Given the description of an element on the screen output the (x, y) to click on. 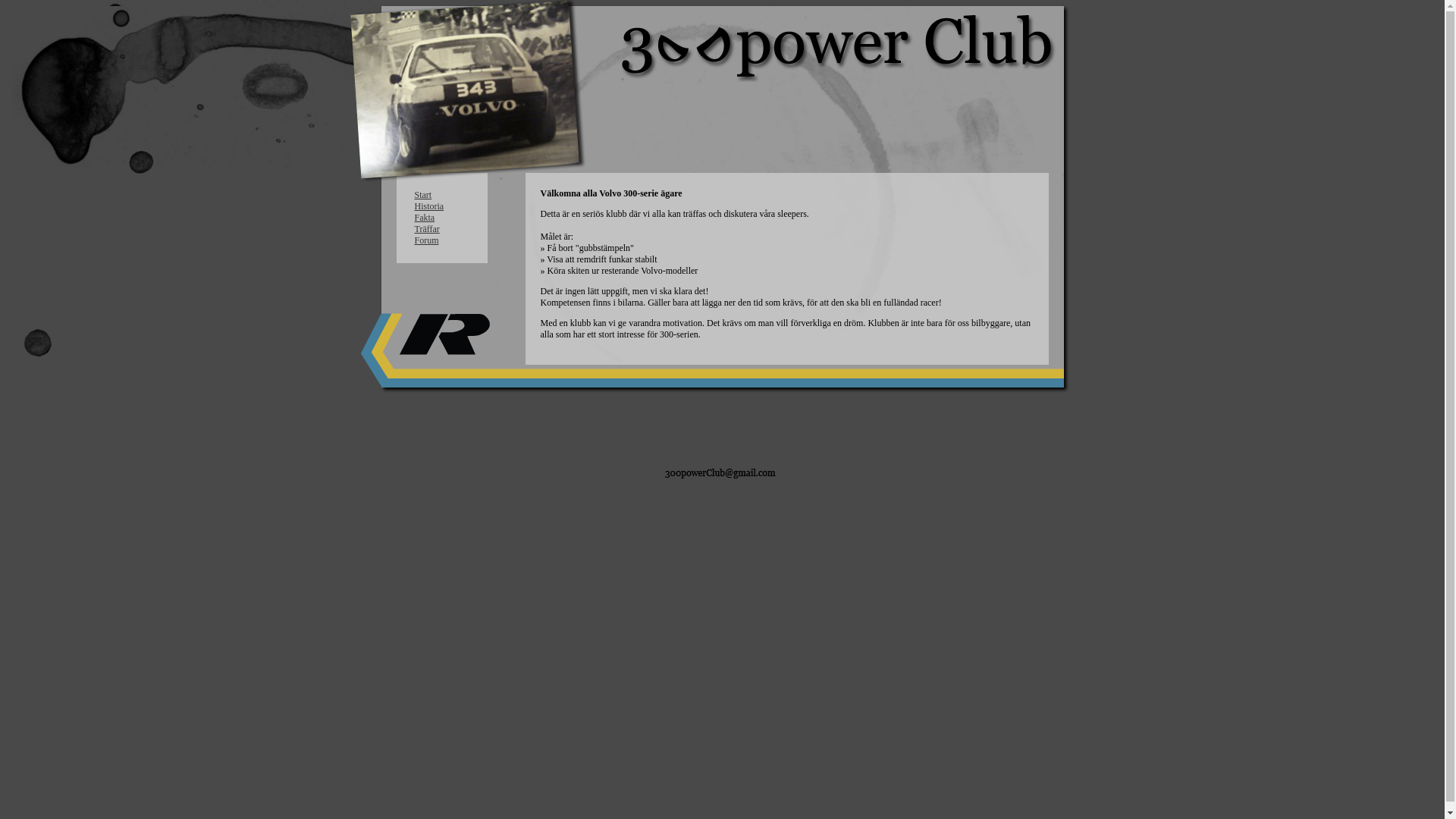
Historia Element type: text (428, 205)
Forum Element type: text (426, 240)
Fakta Element type: text (424, 217)
Start Element type: text (422, 194)
